Given the description of an element on the screen output the (x, y) to click on. 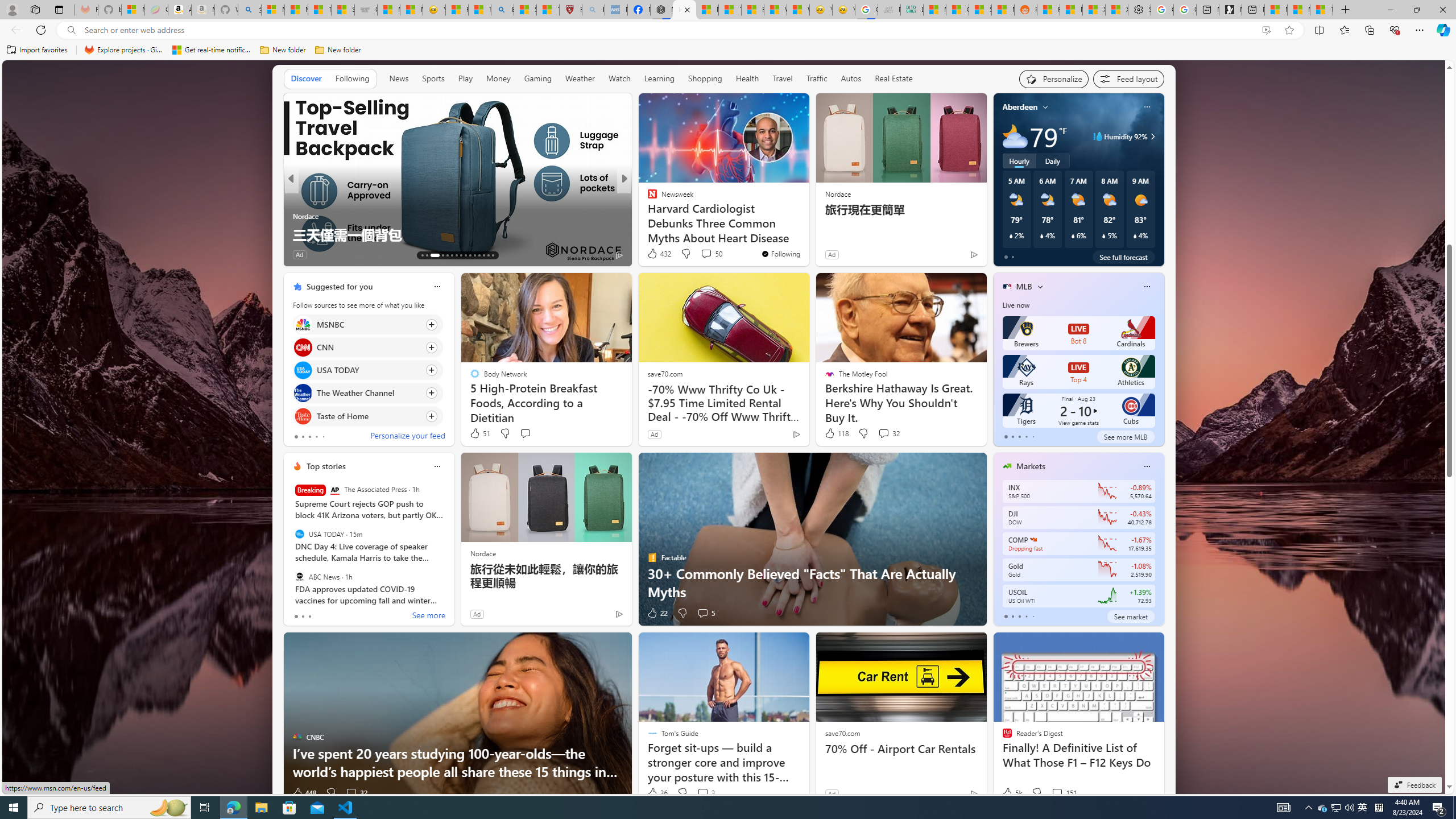
AutomationID: tab-76 (474, 255)
Mostly cloudy (1014, 136)
9 Unhygienic Things Most People Do (807, 234)
AutomationID: tab-70 (446, 255)
View comments 29 Comment (707, 254)
Traffic (816, 79)
View comments 28 Comment (698, 254)
AutomationID: tab-74 (465, 255)
The Motley Fool (647, 197)
Click to follow source CNN (367, 347)
AutomationID: tab-81 (492, 255)
